Given the description of an element on the screen output the (x, y) to click on. 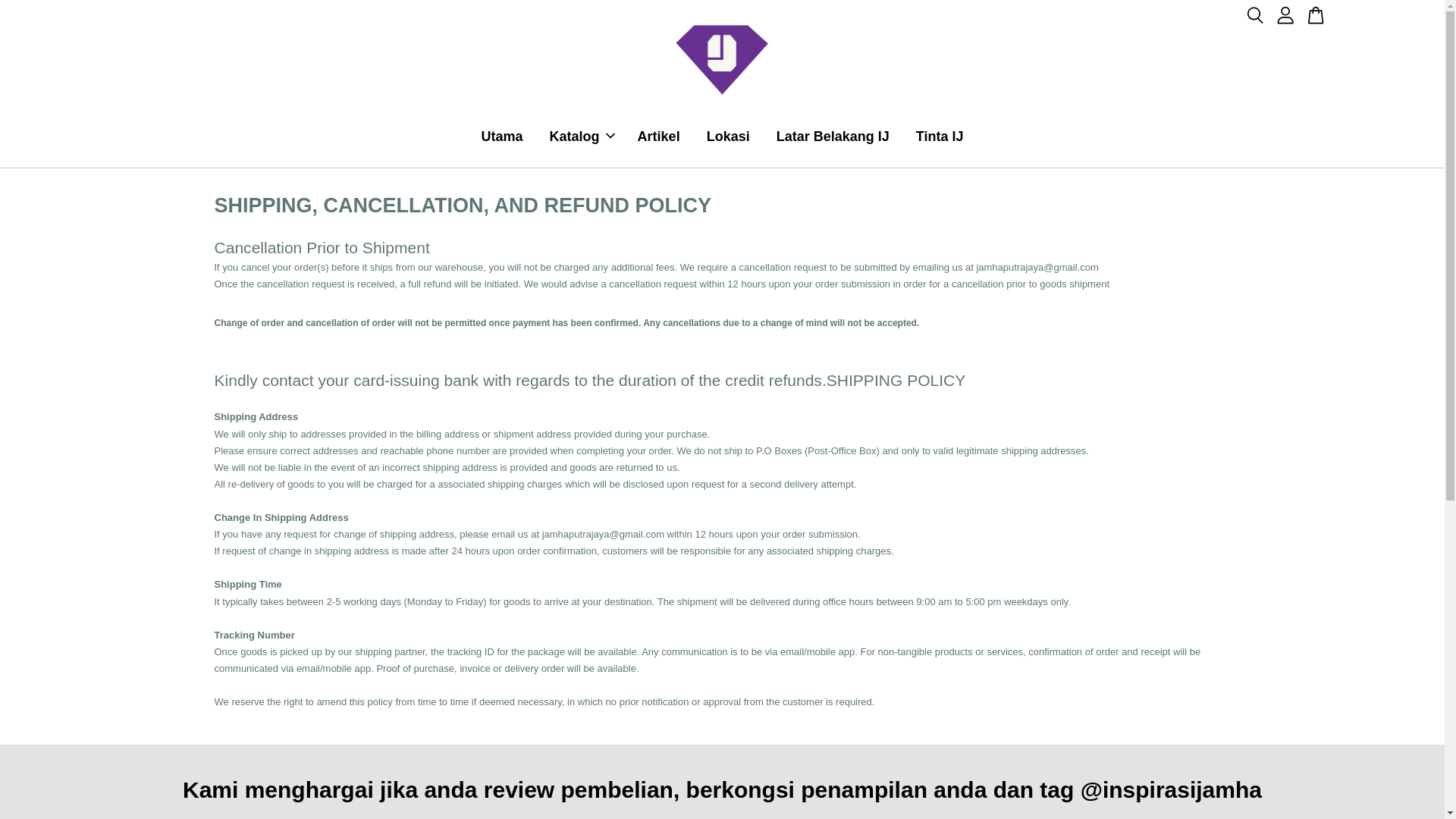
Lokasi (728, 136)
Latar Belakang IJ (833, 136)
Katalog (580, 136)
Tinta IJ (939, 136)
Artikel (658, 136)
Utama (502, 136)
